Given the description of an element on the screen output the (x, y) to click on. 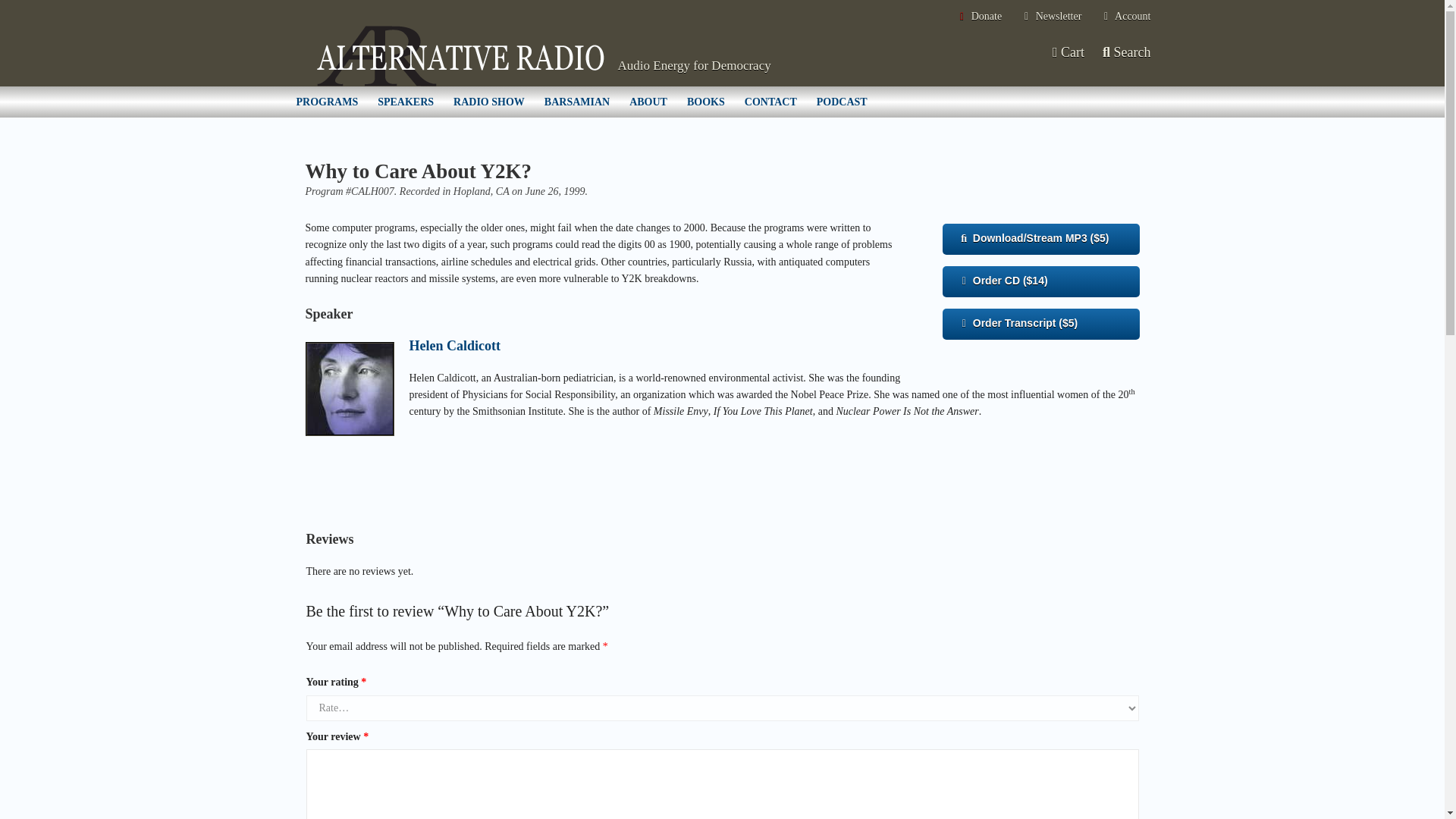
Newsletter (1050, 16)
PROGRAMS (327, 101)
SPEAKERS (406, 101)
Donate (978, 16)
Search (1126, 52)
Account (1125, 16)
Cart (1066, 52)
Alternative Radio (460, 55)
